Given the description of an element on the screen output the (x, y) to click on. 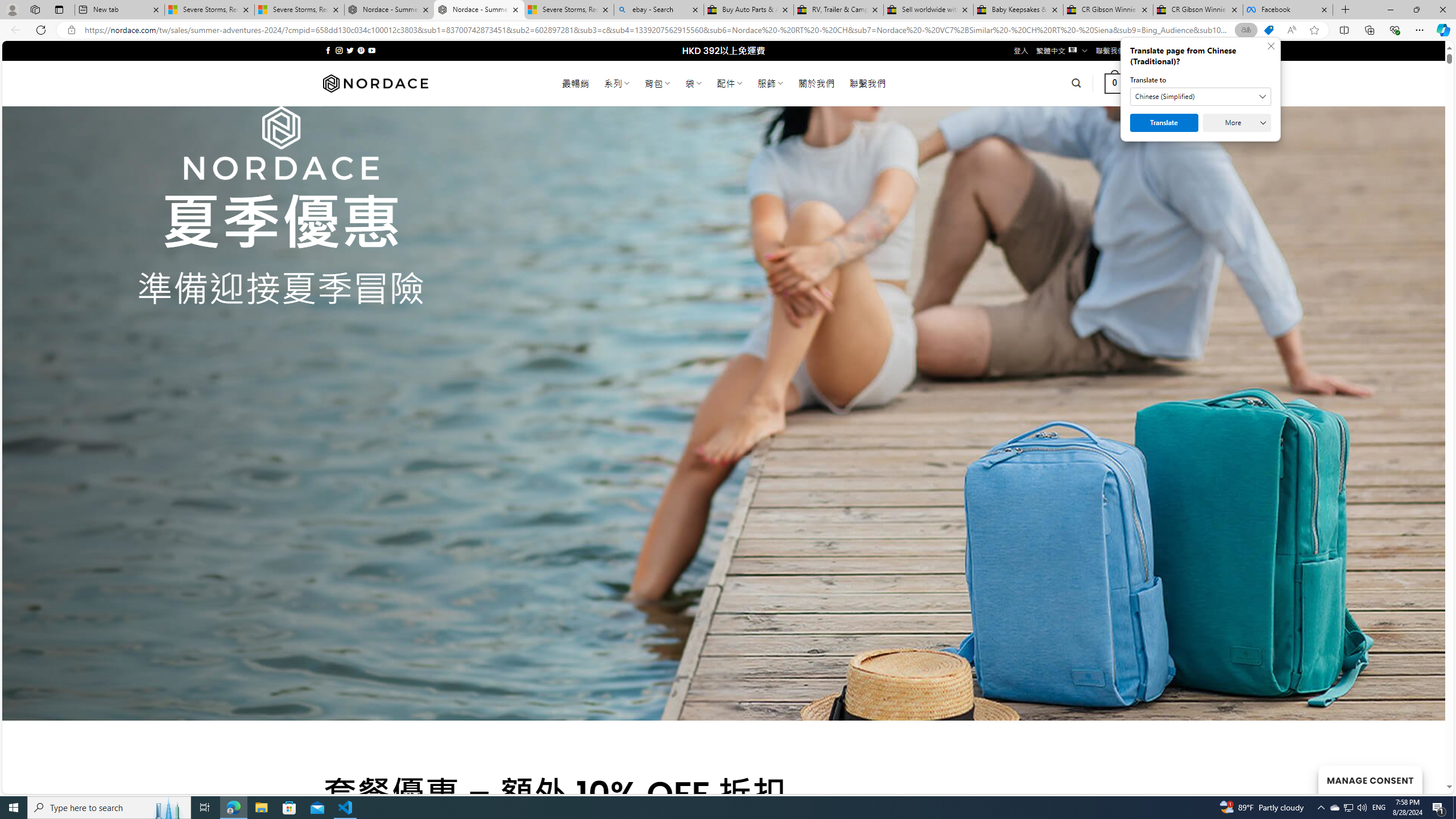
Translate to (1200, 96)
MANAGE CONSENT (1369, 779)
Follow on YouTube (371, 50)
